Given the description of an element on the screen output the (x, y) to click on. 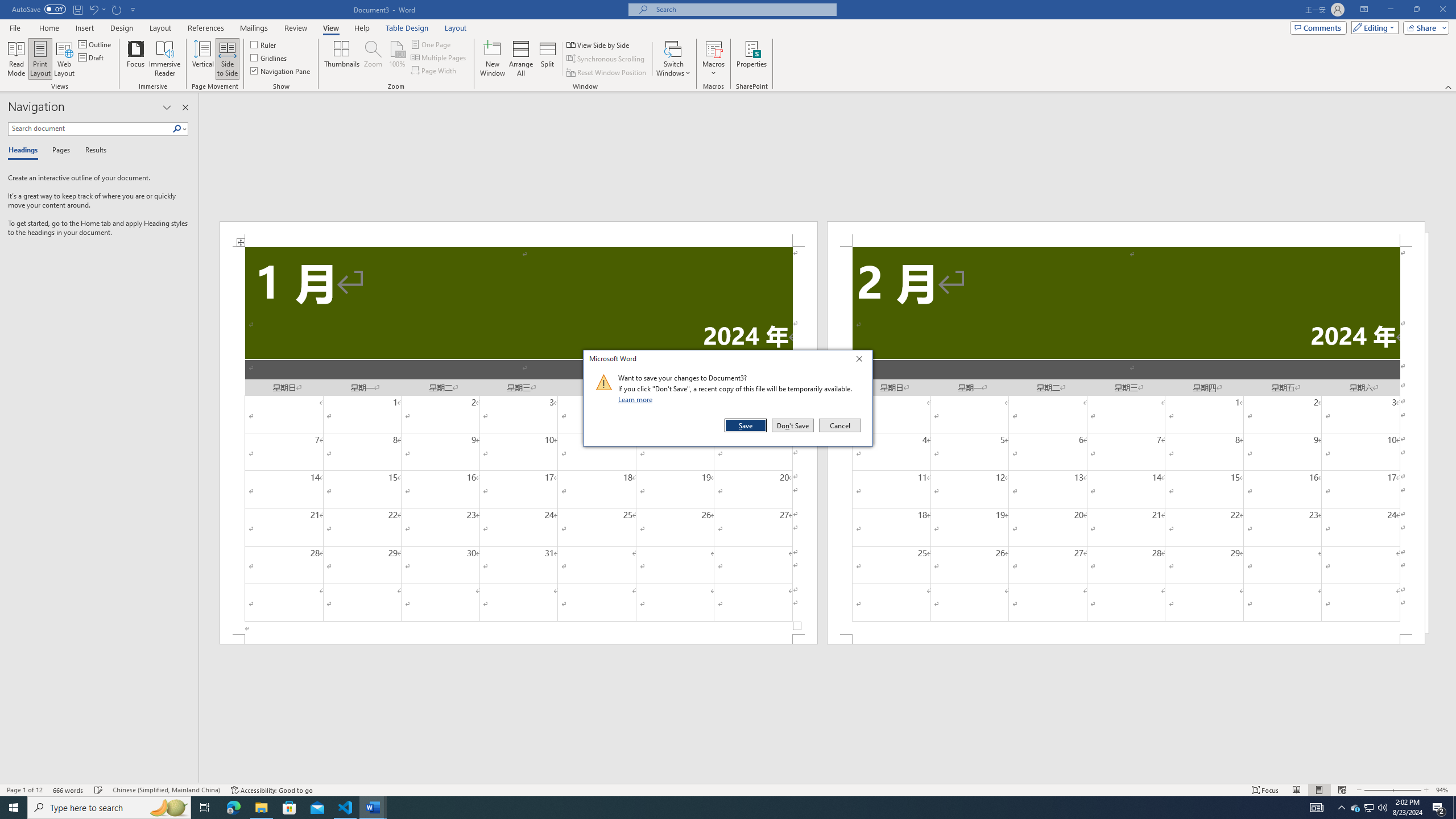
Vertical (202, 58)
Zoom... (372, 58)
Gridlines (269, 56)
Footer -Section 1- (518, 638)
Repeat Doc Close (117, 9)
Arrange All (521, 58)
Undo Increase Indent (96, 9)
Thumbnails (342, 58)
Q2790: 100% (1382, 807)
Page Number Page 1 of 12 (24, 790)
New Window (1355, 807)
